Given the description of an element on the screen output the (x, y) to click on. 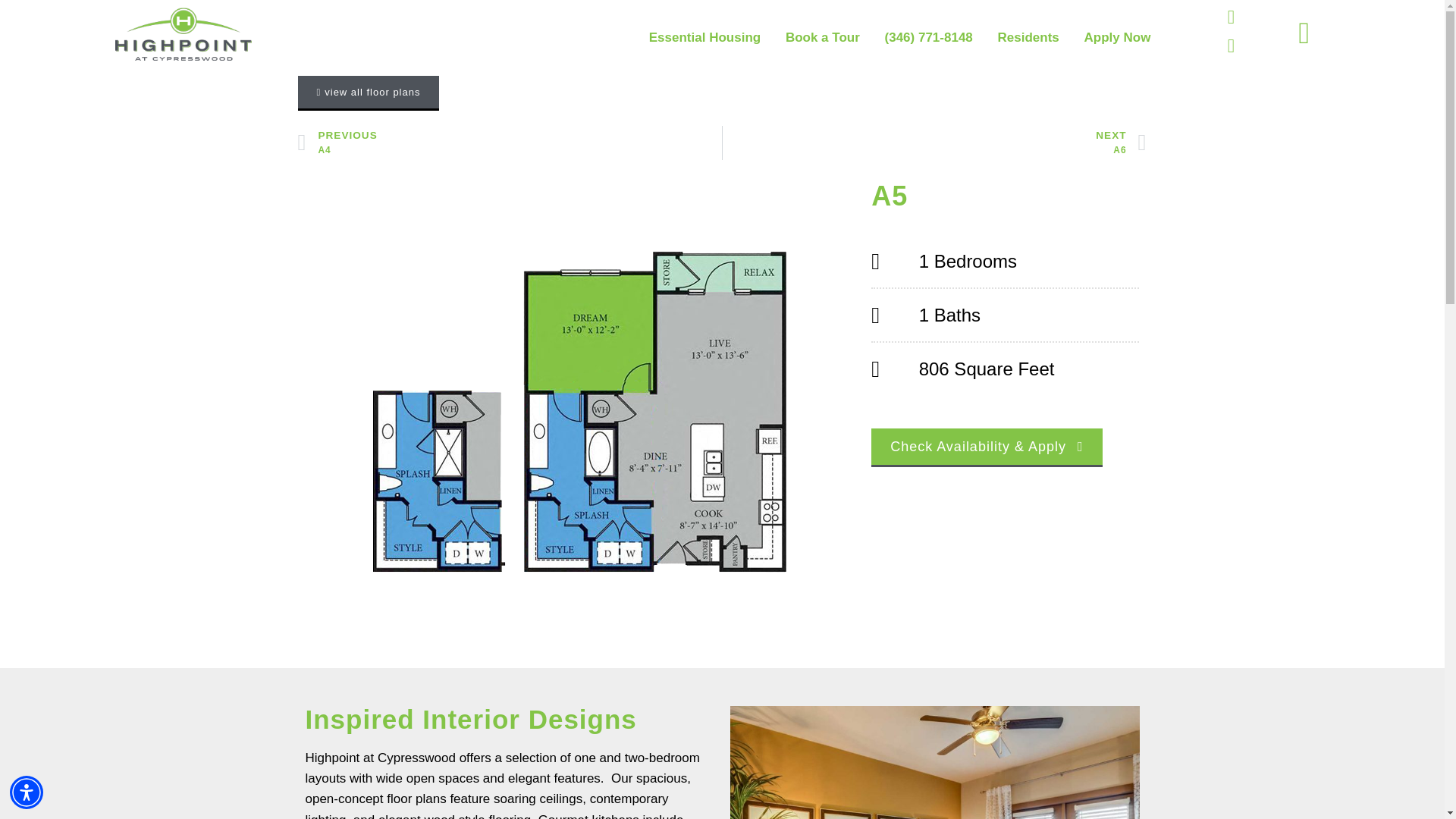
Accessibility Menu (26, 792)
Book a Tour (822, 37)
view all floor plans (368, 93)
Apply Now (934, 142)
Essential Housing (1117, 37)
Residents (509, 142)
